Given the description of an element on the screen output the (x, y) to click on. 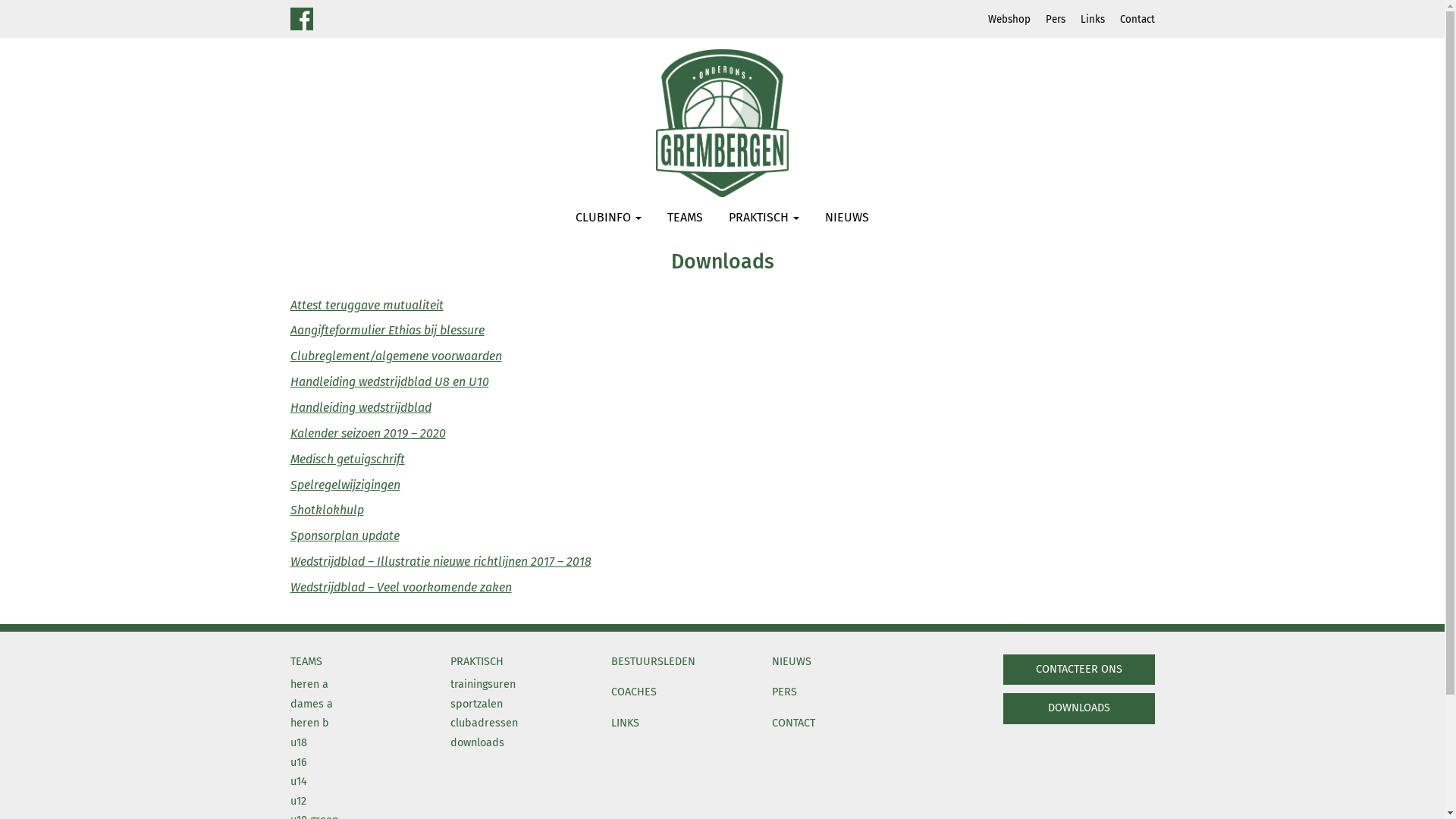
Attest teruggave mutualiteit Element type: text (365, 305)
LINKS Element type: text (625, 722)
Clubreglement/algemene voorwaarden Element type: text (395, 355)
dames a Element type: text (310, 703)
Shotklokhulp Element type: text (326, 509)
Facebook BBC Onderons Grembergen Element type: hover (300, 21)
Medisch getuigschrift Element type: text (346, 458)
downloads Element type: text (477, 742)
u12 Element type: text (297, 800)
Webshop Element type: text (1000, 21)
Pers Element type: text (1046, 21)
Aangifteformulier Ethias bij blessure Element type: text (386, 330)
Handleiding wedstrijdblad U8 en U10 Element type: text (388, 381)
Sponsorplan update Element type: text (343, 535)
BESTUURSLEDEN Element type: text (653, 661)
PERS Element type: text (784, 691)
CONTACT Element type: text (793, 722)
Handleiding wedstrijdblad Element type: text (359, 407)
trainingsuren Element type: text (482, 683)
PRAKTISCH Element type: text (763, 219)
u16 Element type: text (297, 762)
NIEUWS Element type: text (791, 661)
u14 Element type: text (297, 781)
heren a Element type: text (308, 683)
CLUBINFO Element type: text (608, 219)
Contact Element type: text (1129, 21)
Spelregelwijzigingen Element type: text (344, 484)
heren b Element type: text (308, 722)
u18 Element type: text (297, 742)
Links Element type: text (1084, 21)
PRAKTISCH Element type: text (476, 661)
Facebook BBC Onderons Grembergen Element type: hover (300, 18)
clubadressen Element type: text (483, 722)
sportzalen Element type: text (476, 703)
COACHES Element type: text (633, 691)
TEAMS Element type: text (305, 661)
NIEUWS Element type: text (846, 219)
TEAMS Element type: text (684, 219)
